Given the description of an element on the screen output the (x, y) to click on. 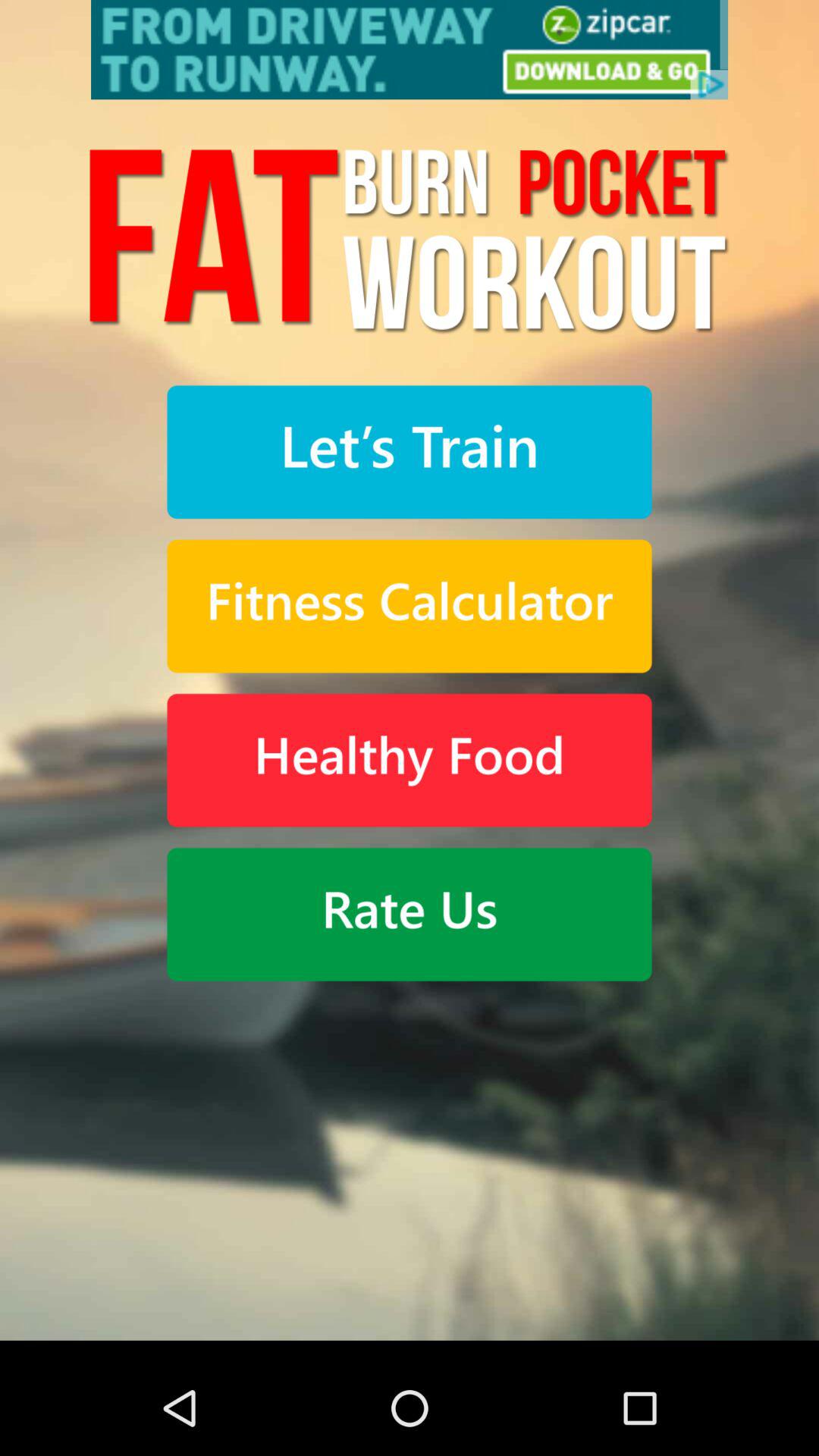
select button (409, 914)
